Given the description of an element on the screen output the (x, y) to click on. 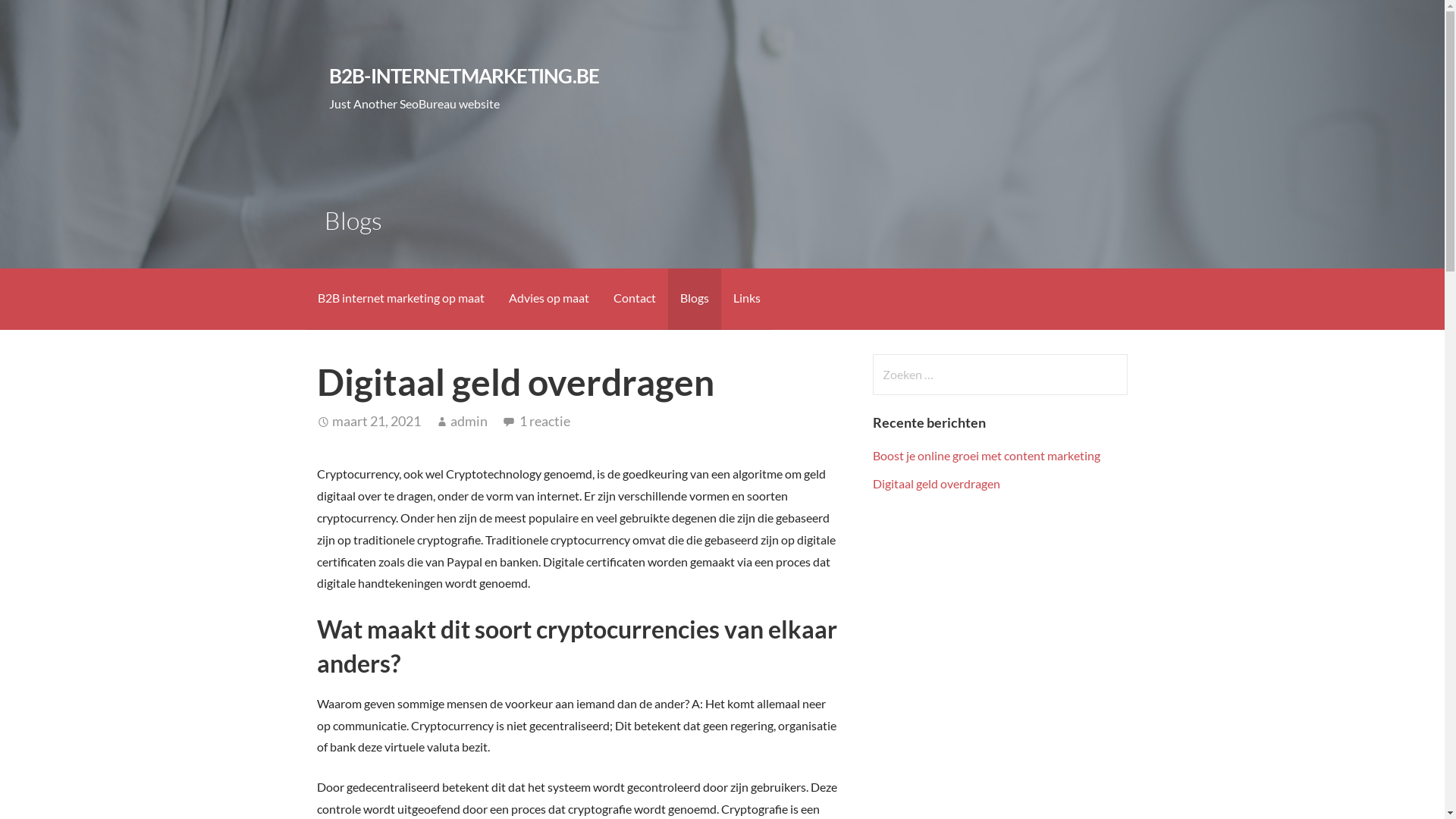
1 reactie Element type: text (544, 420)
Zoeken Element type: text (42, 18)
Contact Element type: text (633, 298)
Blogs Element type: text (693, 298)
Digitaal geld overdragen Element type: text (936, 483)
admin Element type: text (468, 420)
Boost je online groei met content marketing Element type: text (986, 455)
B2B-INTERNETMARKETING.BE Element type: text (464, 75)
Links Element type: text (745, 298)
Advies op maat Element type: text (547, 298)
B2B internet marketing op maat Element type: text (399, 298)
